Given the description of an element on the screen output the (x, y) to click on. 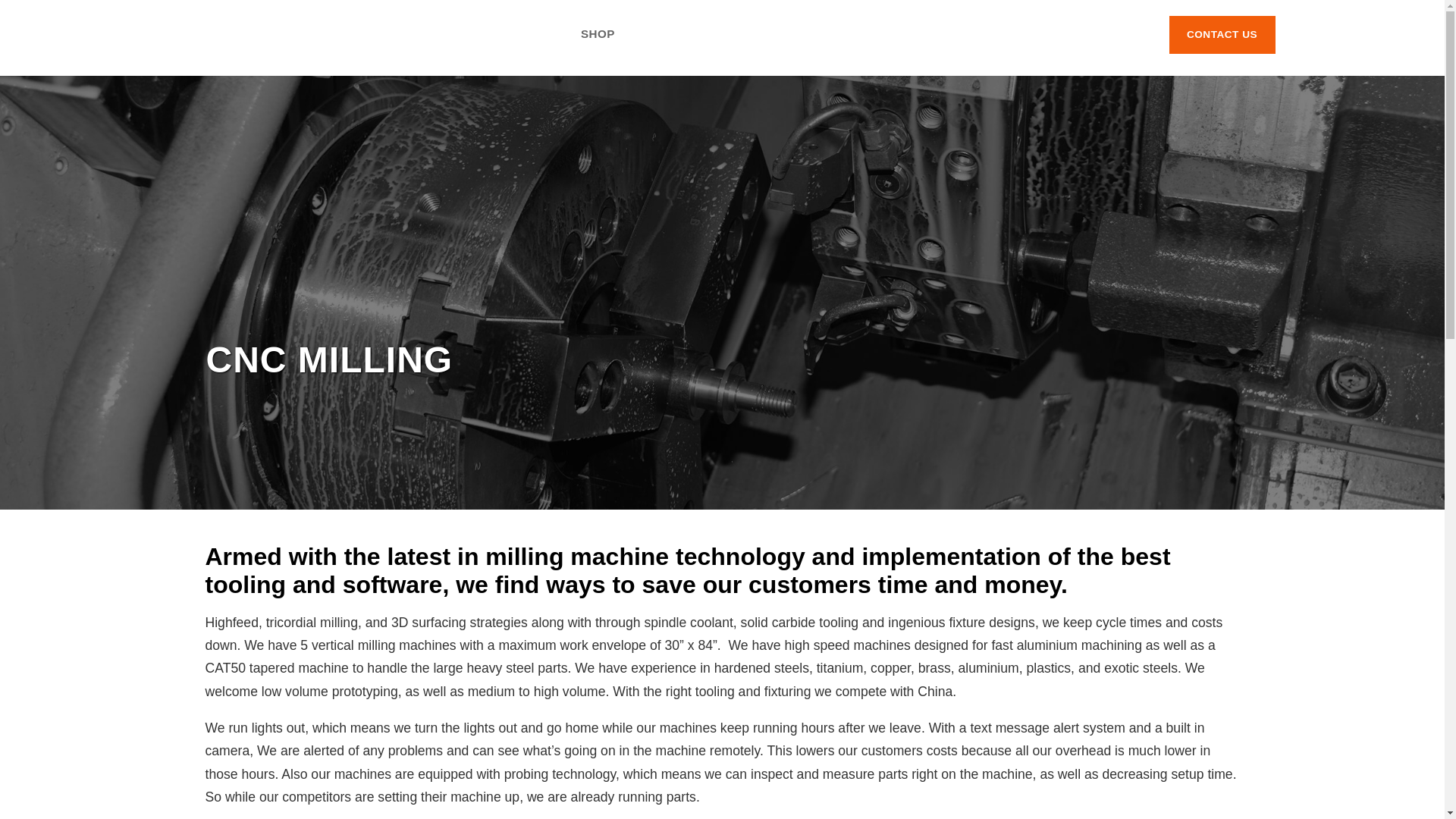
ABOUT US (314, 33)
Machine Shop Services (463, 33)
CONTACT US (1222, 34)
Shop (597, 33)
IOS Enterprises Ltd. Home Page (209, 37)
About Us (314, 33)
Phone Us (1103, 33)
PARTS GALLERY (703, 33)
604-513-1563 (1103, 33)
SHOP (597, 33)
Contact Us (1222, 34)
MACHINE SHOP SERVICES (463, 33)
Parts Gallery (703, 33)
